Given the description of an element on the screen output the (x, y) to click on. 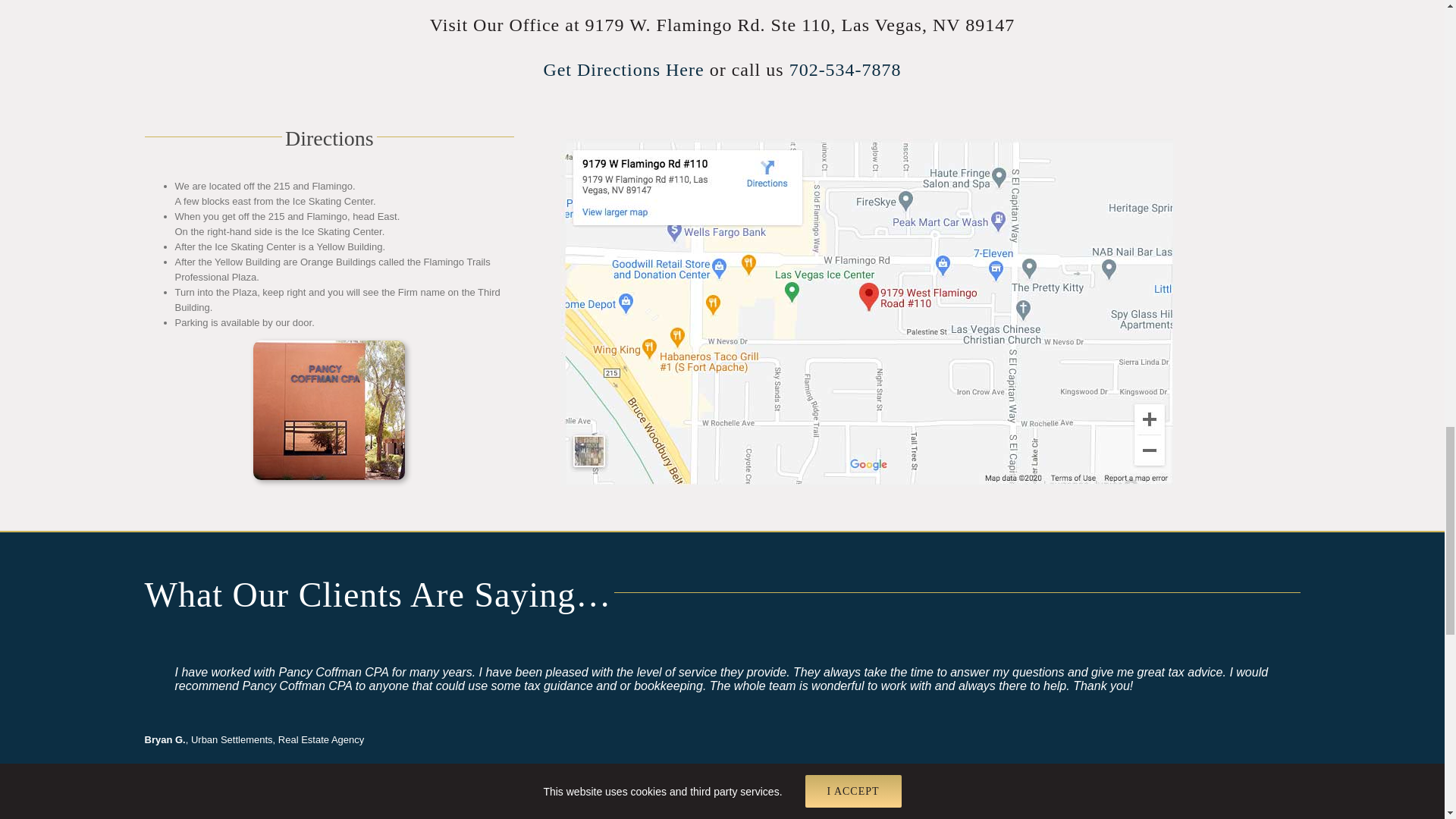
Pancy Coffman, CPA (328, 345)
